Given the description of an element on the screen output the (x, y) to click on. 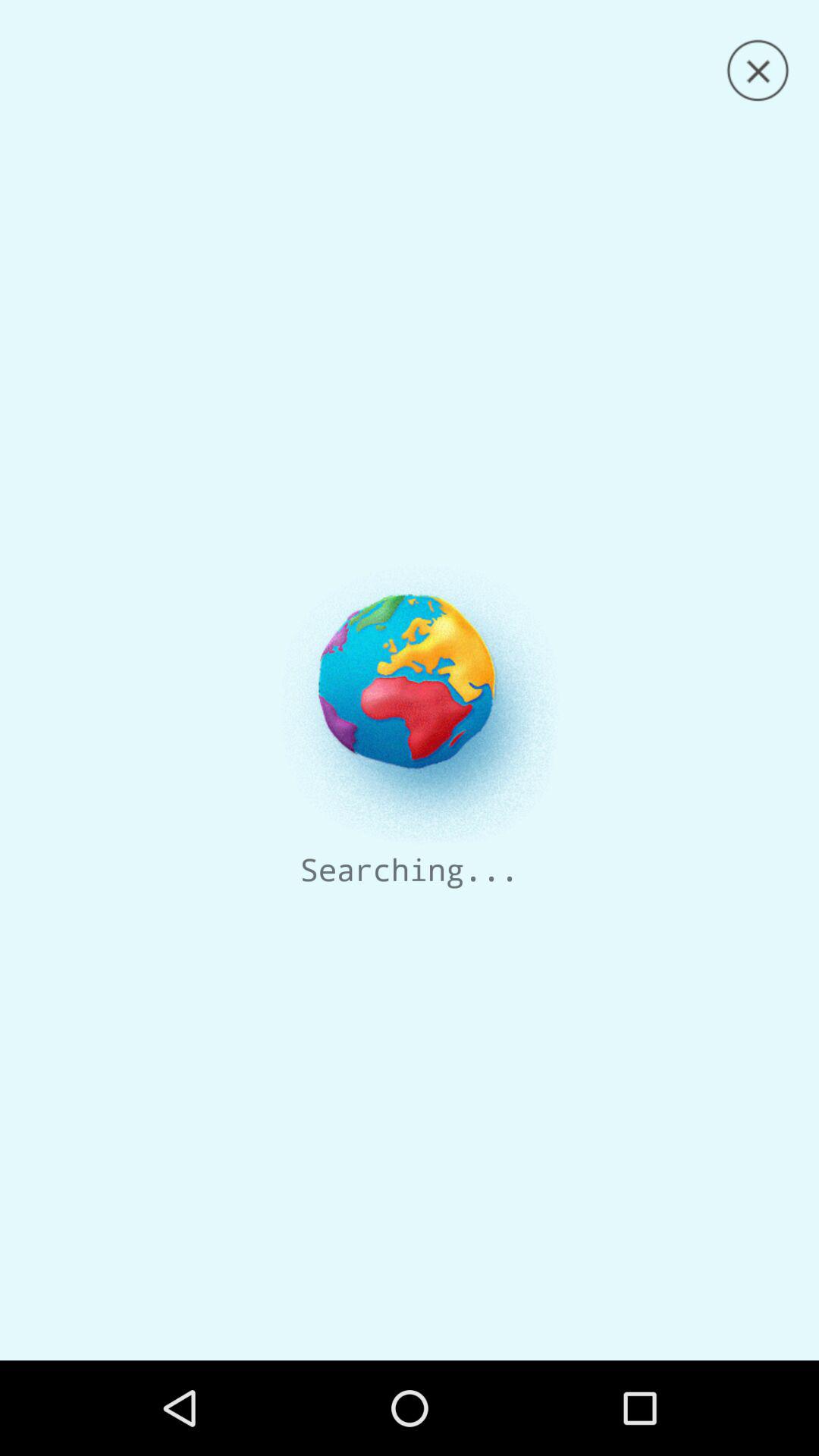
close window (757, 70)
